Given the description of an element on the screen output the (x, y) to click on. 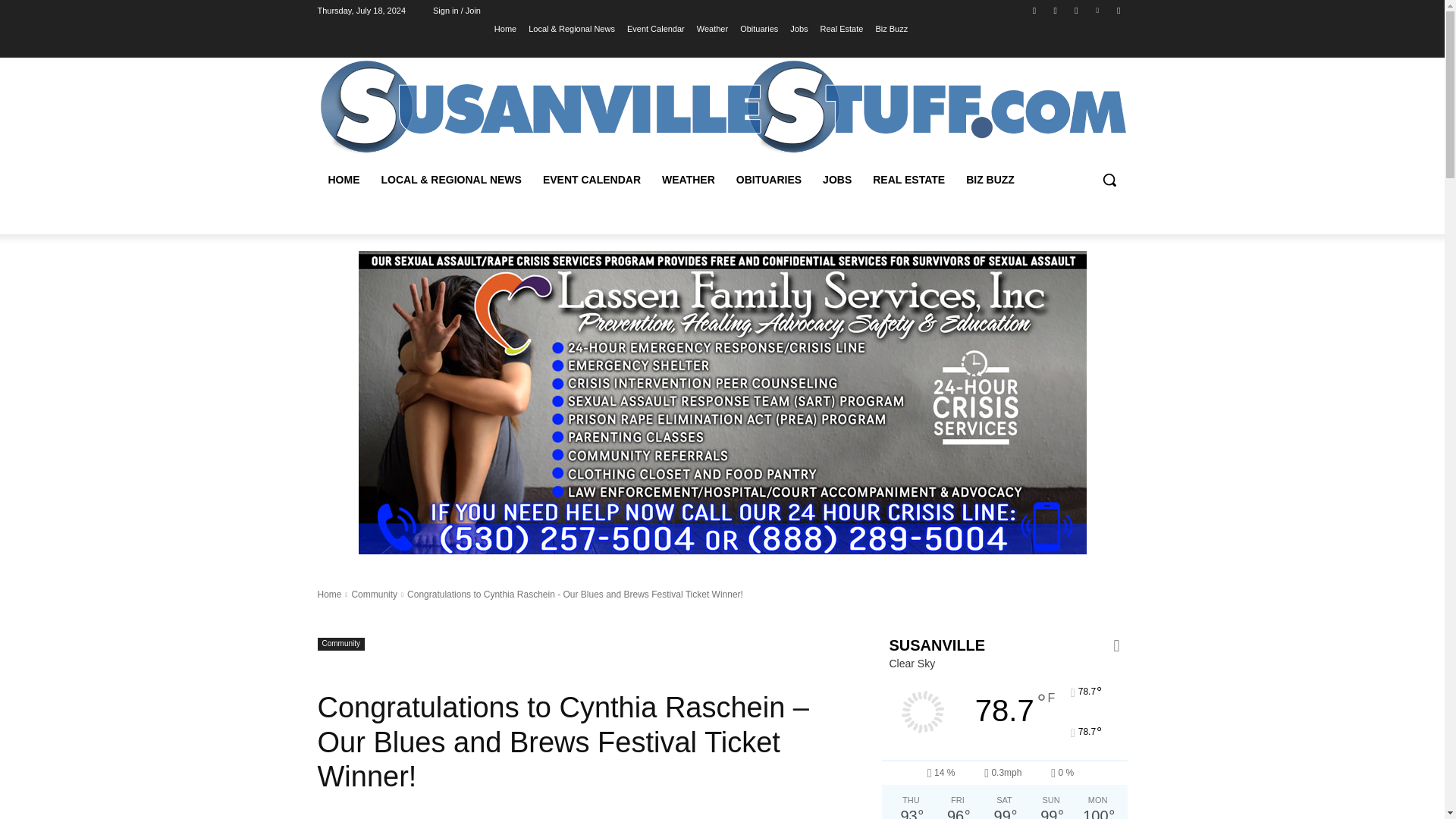
Real Estate (842, 28)
Jobs (799, 28)
WEATHER (687, 179)
BIZ BUZZ (990, 179)
EVENT CALENDAR (591, 179)
Home (505, 28)
REAL ESTATE (908, 179)
Weather (712, 28)
Twitter (1075, 9)
View all posts in Community (373, 593)
Instagram (1055, 9)
OBITUARIES (768, 179)
Vimeo (1097, 9)
